Given the description of an element on the screen output the (x, y) to click on. 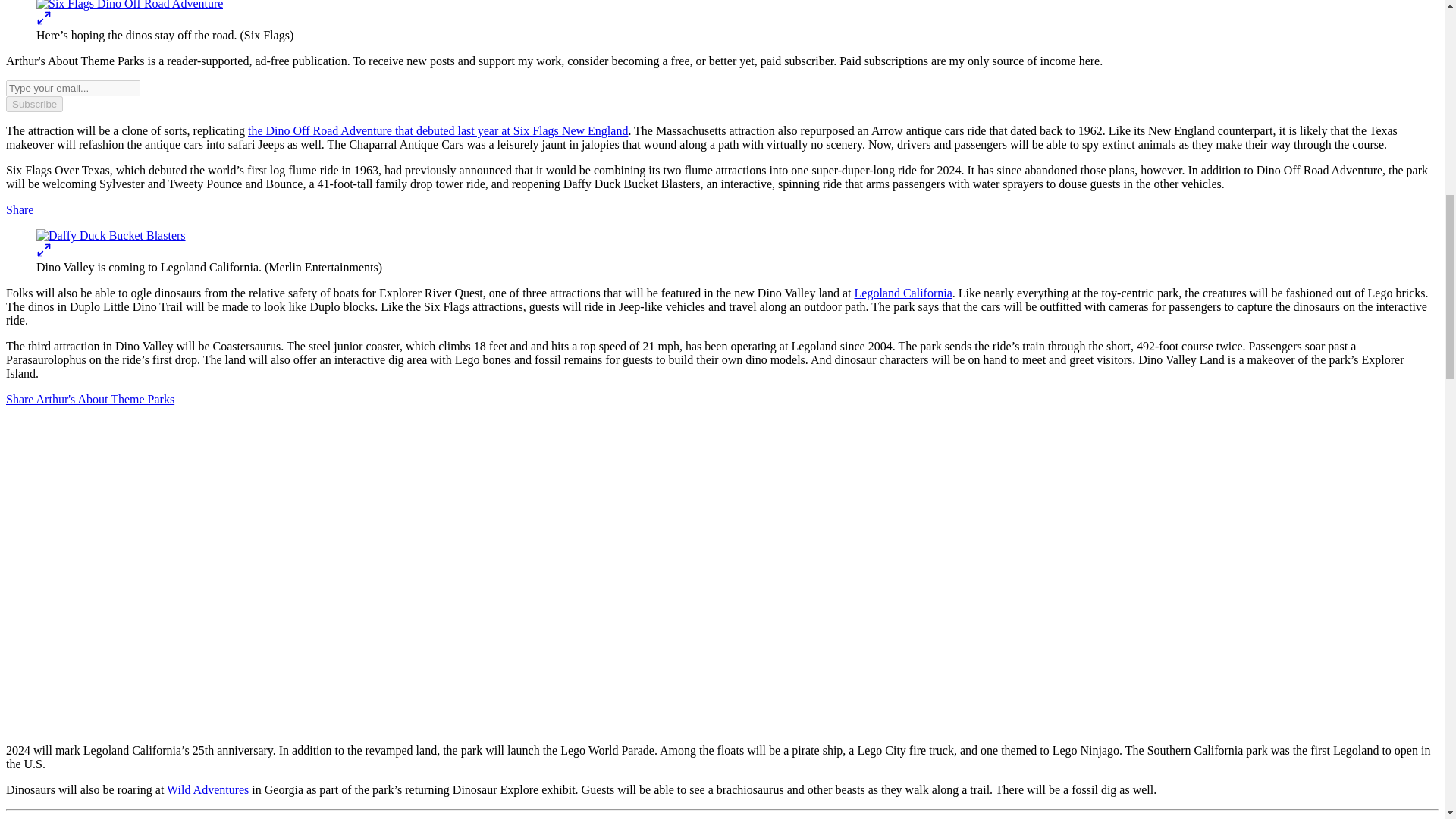
Share Arthur's About Theme Parks (89, 399)
Daffy Duck Bucket Blasters  (111, 235)
Wild Adventures (207, 789)
Share (19, 209)
Legoland California (902, 292)
Subscribe (33, 104)
Six Flags Dino Off Road Adventure (129, 5)
